Given the description of an element on the screen output the (x, y) to click on. 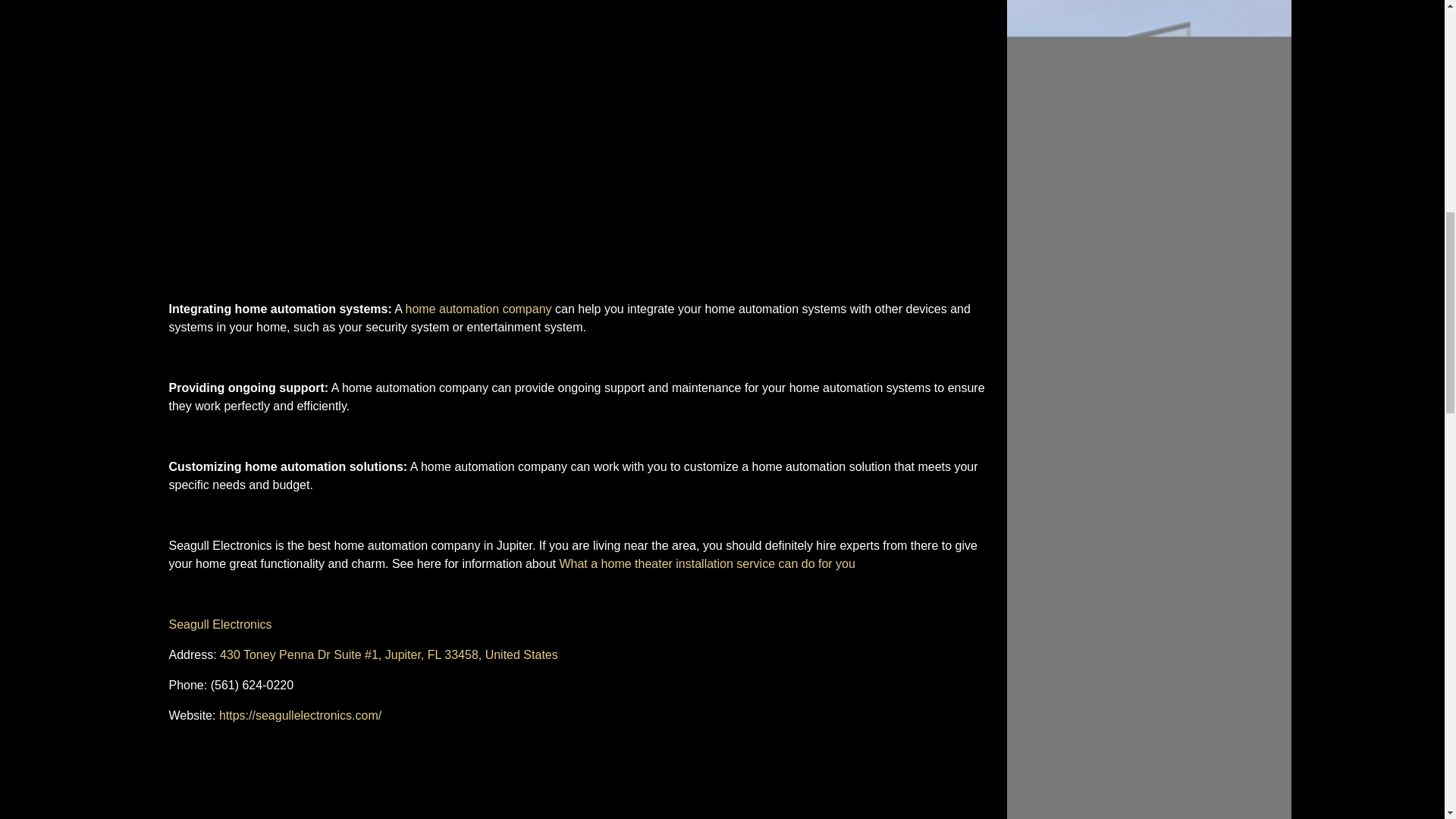
home automation company (478, 308)
What a home theater installation service can do for you (706, 563)
Seagull Electronics (219, 624)
